Given the description of an element on the screen output the (x, y) to click on. 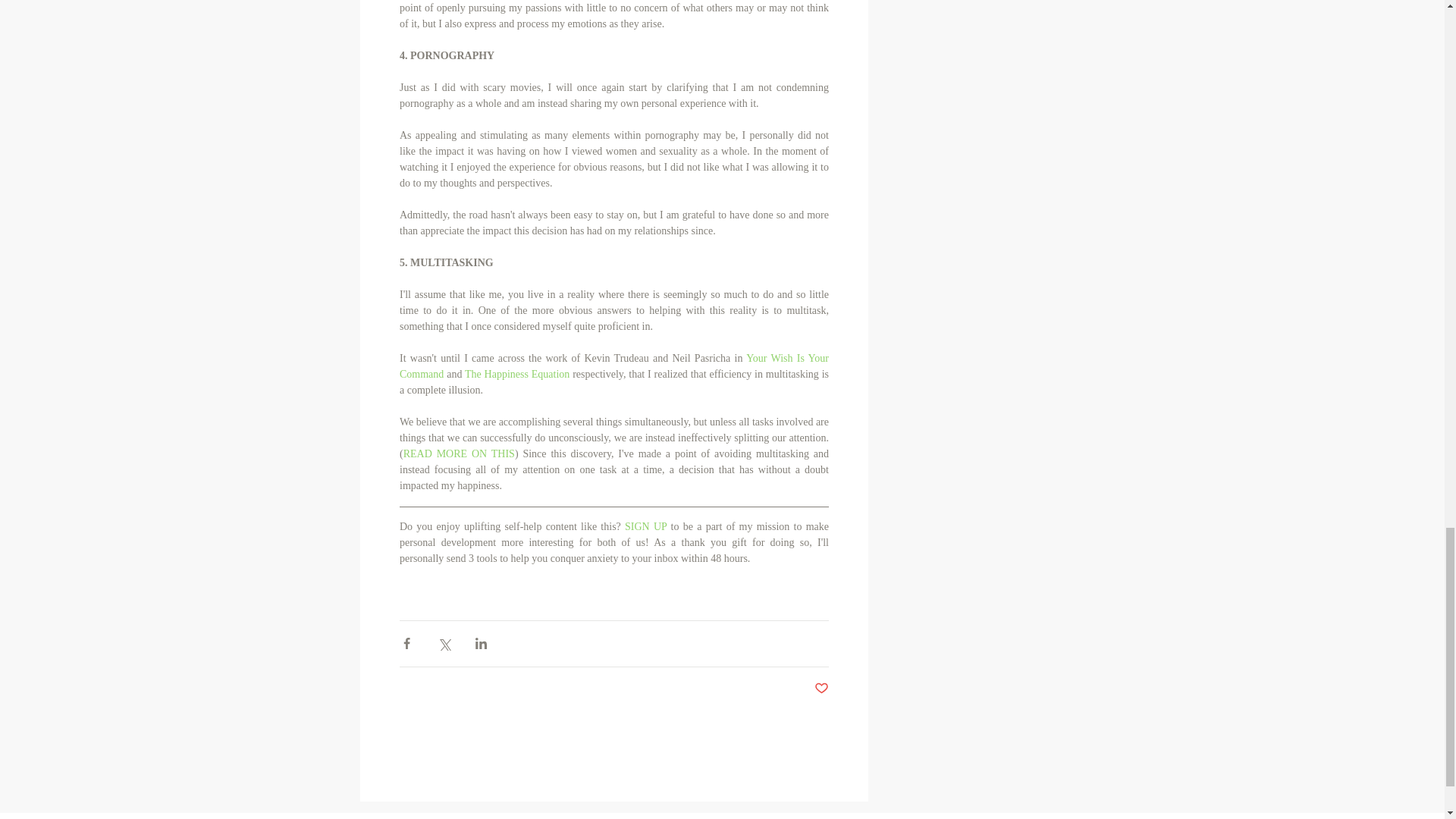
The Happiness Equation (516, 374)
SIGN UP (645, 526)
Post not marked as liked (820, 688)
READ MORE ON THIS (458, 453)
Your Wish Is Your Command (614, 366)
